Given the description of an element on the screen output the (x, y) to click on. 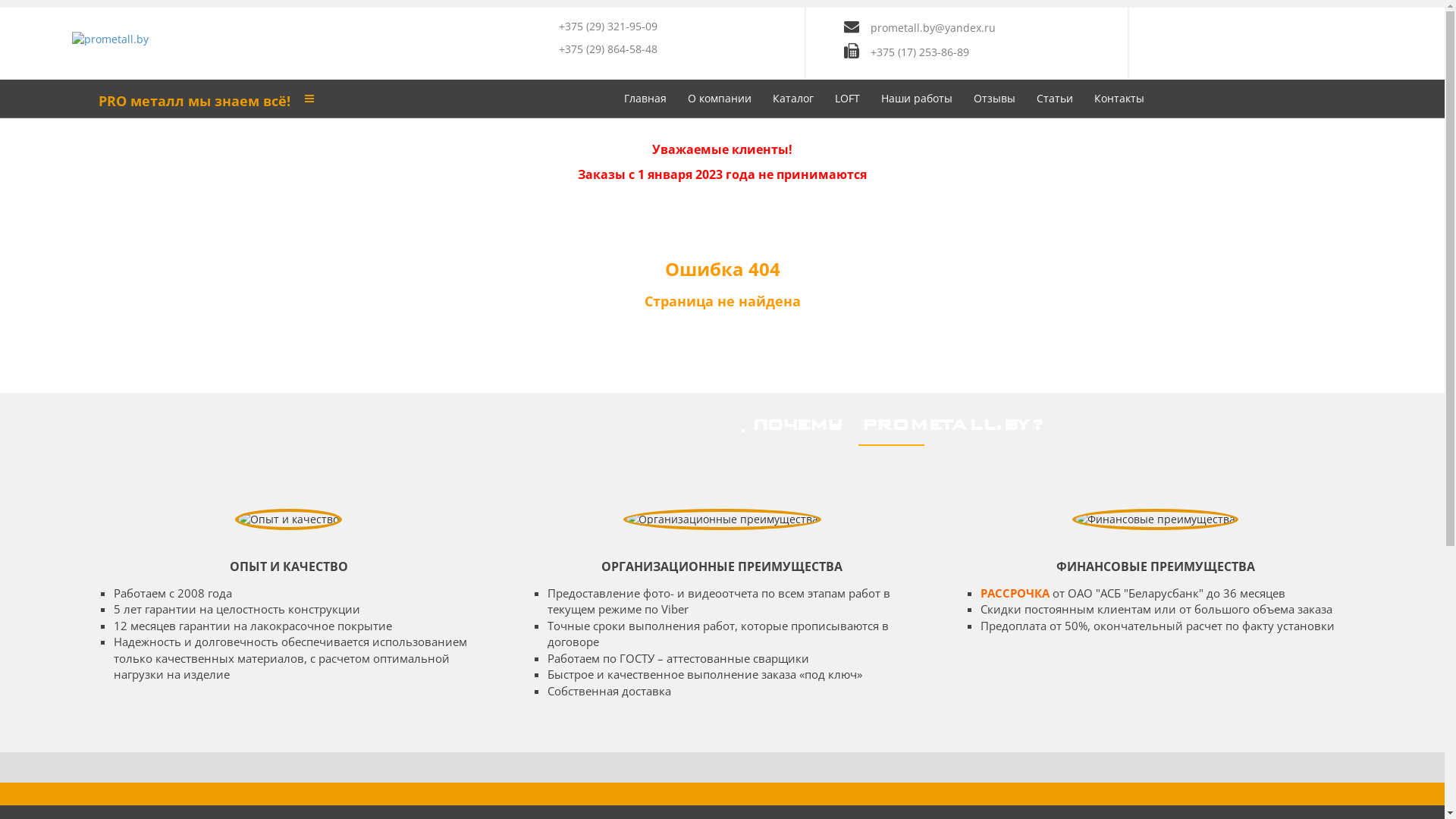
prometall.by Element type: hover (110, 38)
prometall.by@yandex.ru Element type: text (932, 27)
LOFT Element type: text (846, 98)
